Given the description of an element on the screen output the (x, y) to click on. 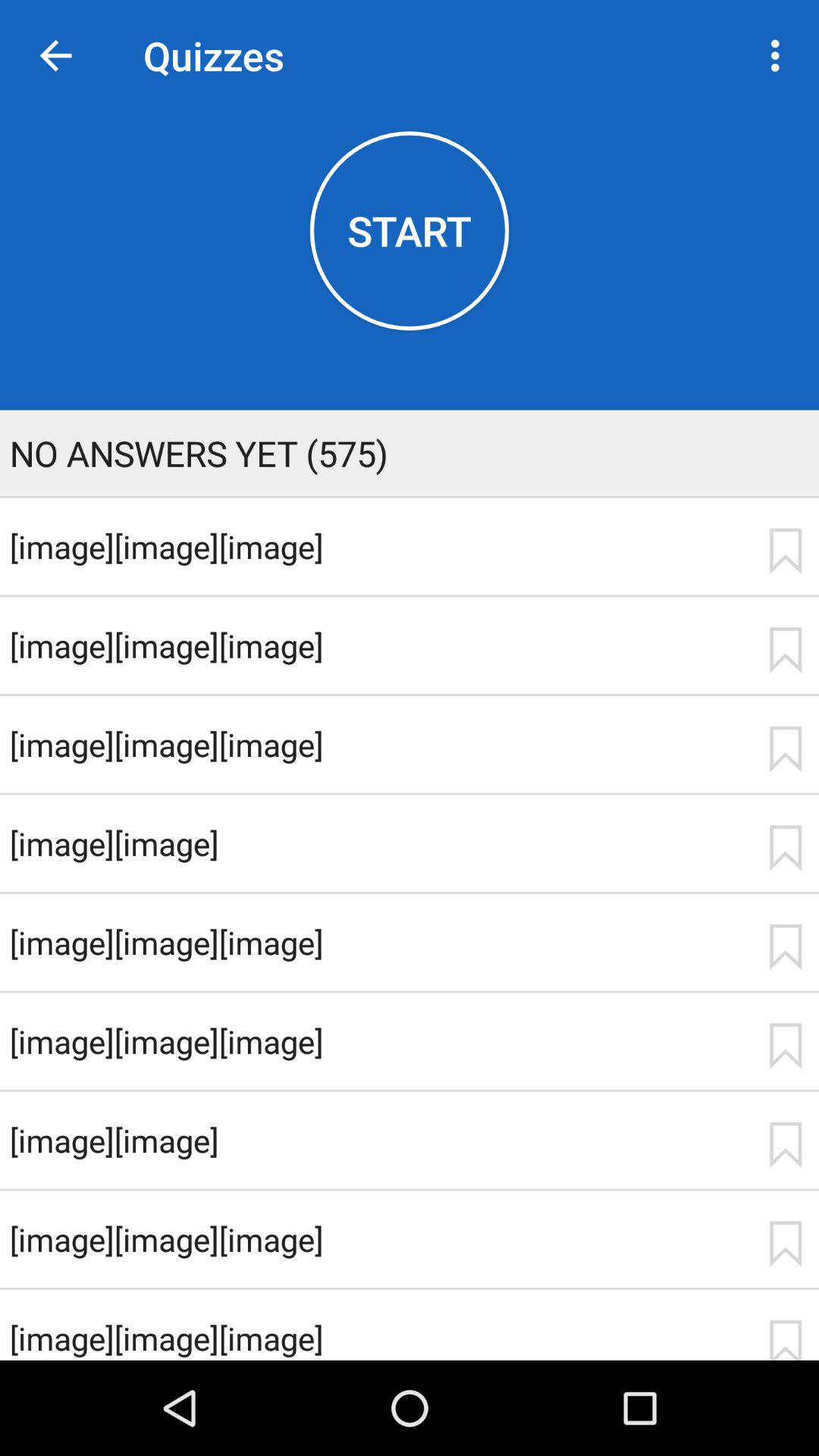
bookmark item (784, 650)
